Given the description of an element on the screen output the (x, y) to click on. 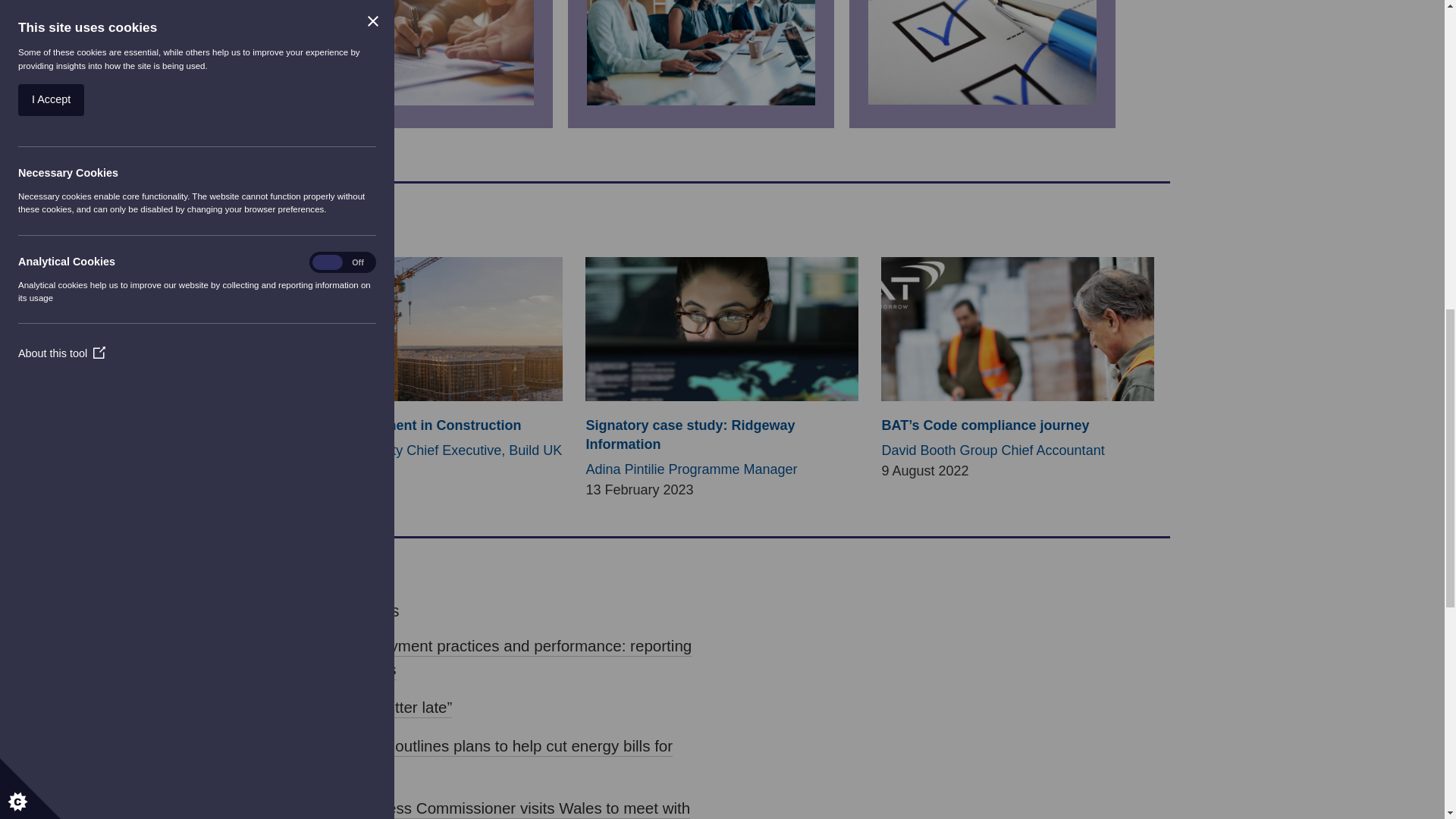
Improving Payment in Construction (405, 425)
